Given the description of an element on the screen output the (x, y) to click on. 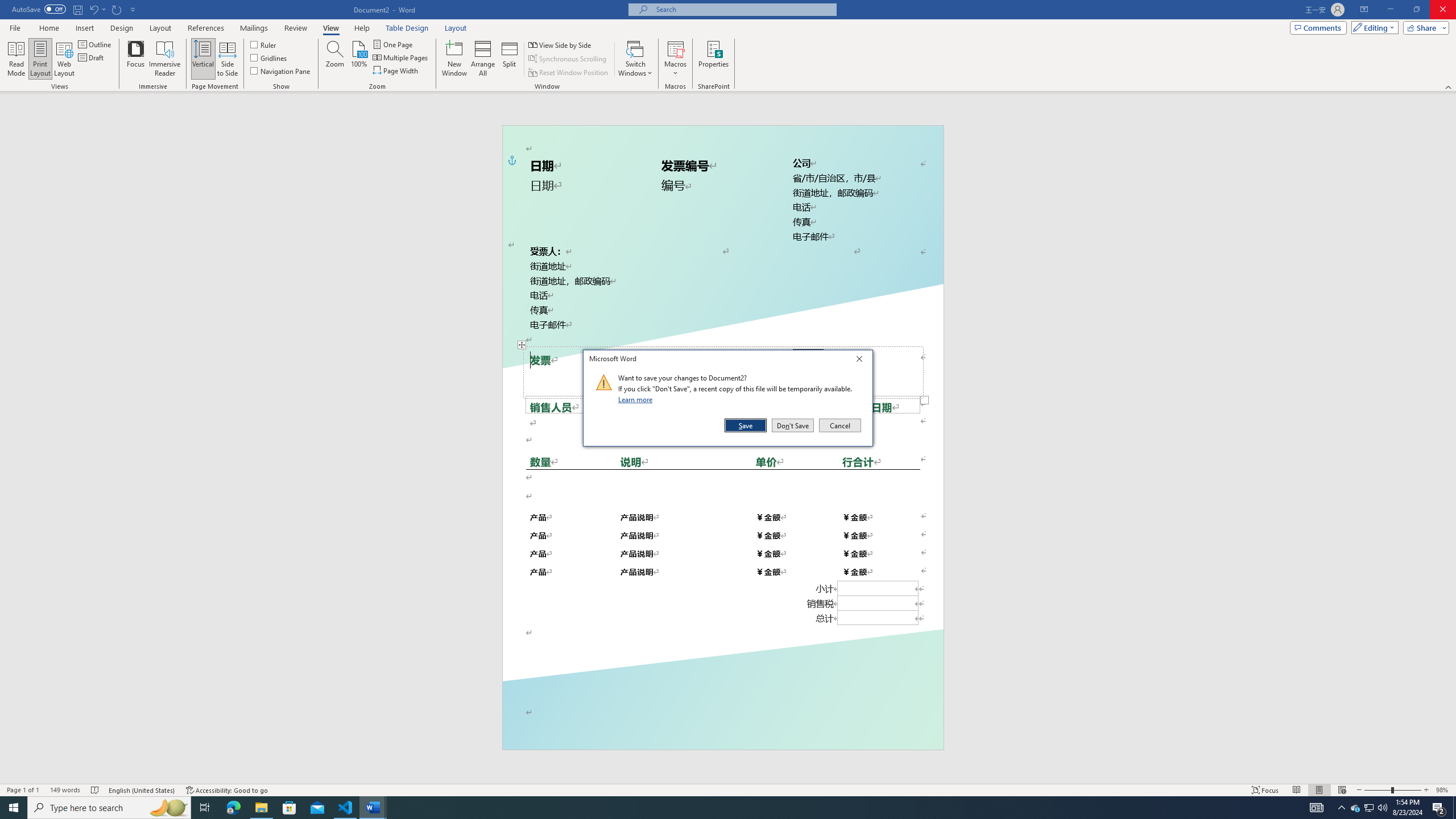
Outline (95, 44)
Split (509, 58)
Page Width (396, 69)
Multiple Pages (400, 56)
Word - 2 running windows (373, 807)
Reset Window Position (569, 72)
